Given the description of an element on the screen output the (x, y) to click on. 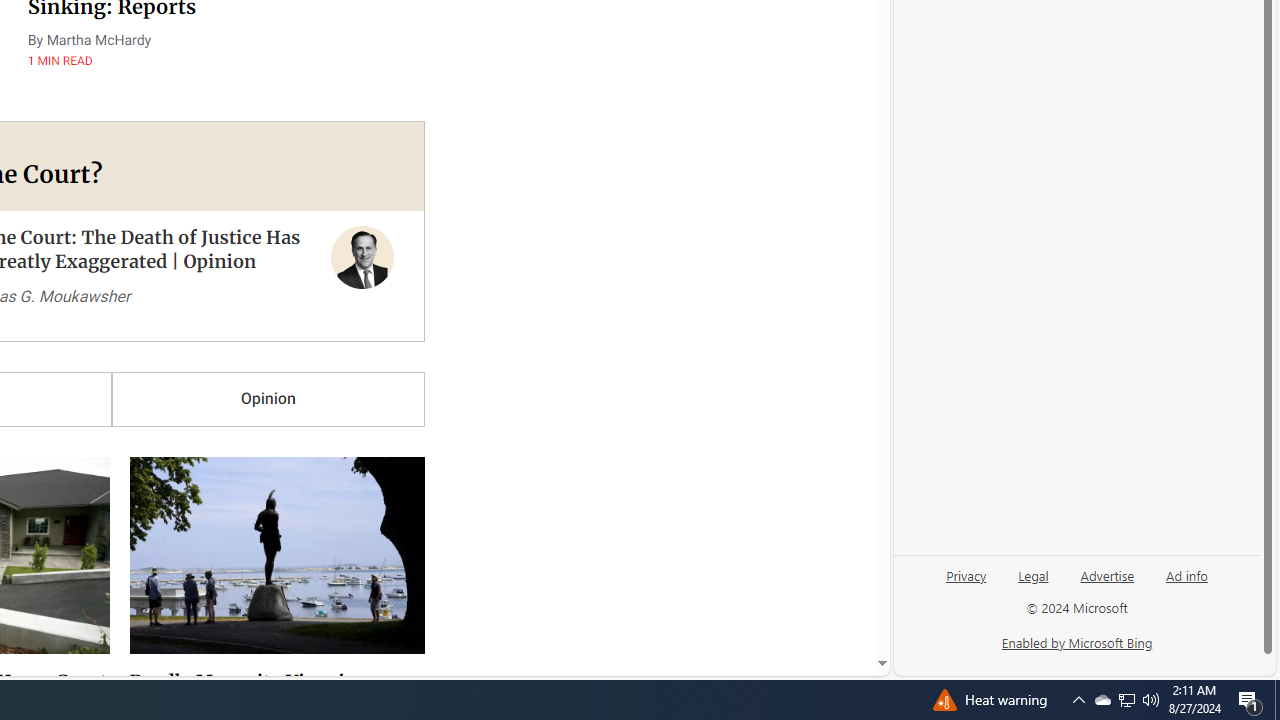
By Martha McHardy (89, 39)
By Jordan King (176, 548)
Opinion (268, 399)
Heat warning (1102, 699)
